Given the description of an element on the screen output the (x, y) to click on. 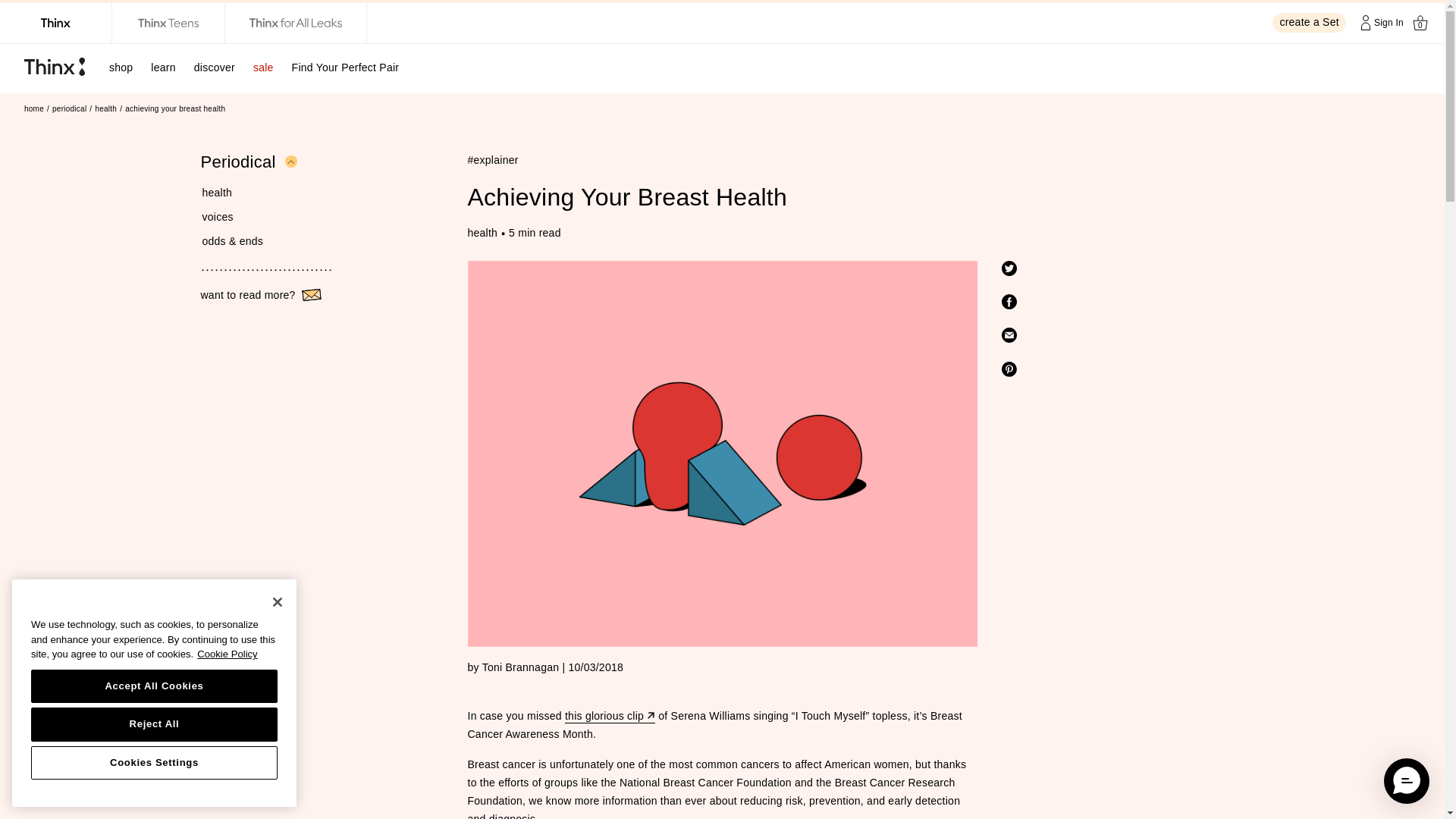
Thinx (56, 23)
Twitter Icon (1008, 268)
Email Icon (1008, 335)
Pinterest Icon (1008, 368)
Facebook Icon (1008, 301)
shop (120, 67)
Sign In (1380, 22)
Thinx Teens (168, 23)
create a Set (1311, 22)
Thinx for All Leaks by Thinx (295, 23)
